Given the description of an element on the screen output the (x, y) to click on. 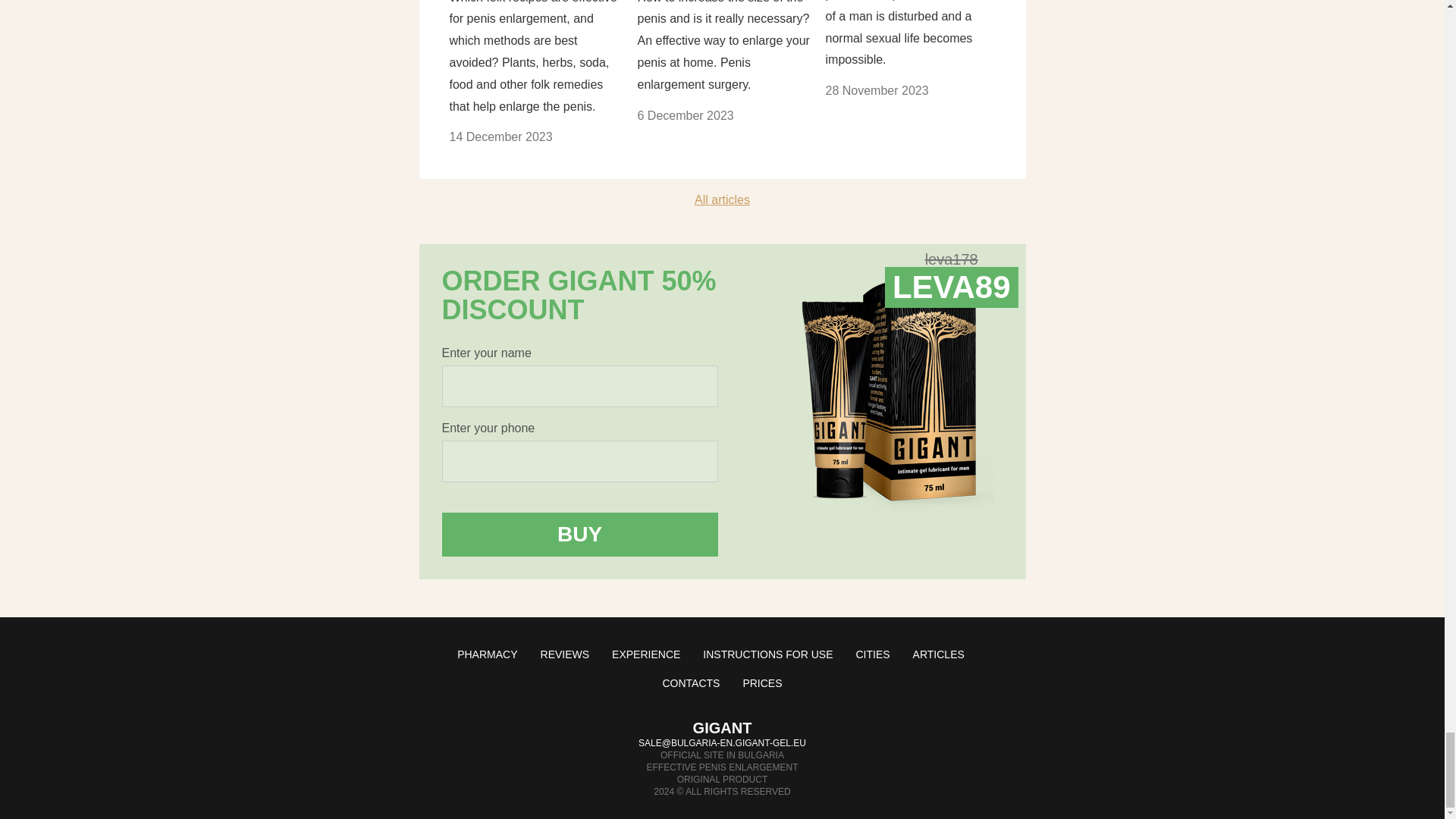
REVIEWS (564, 654)
All articles (721, 199)
BUY (579, 534)
PHARMACY (486, 654)
